Given the description of an element on the screen output the (x, y) to click on. 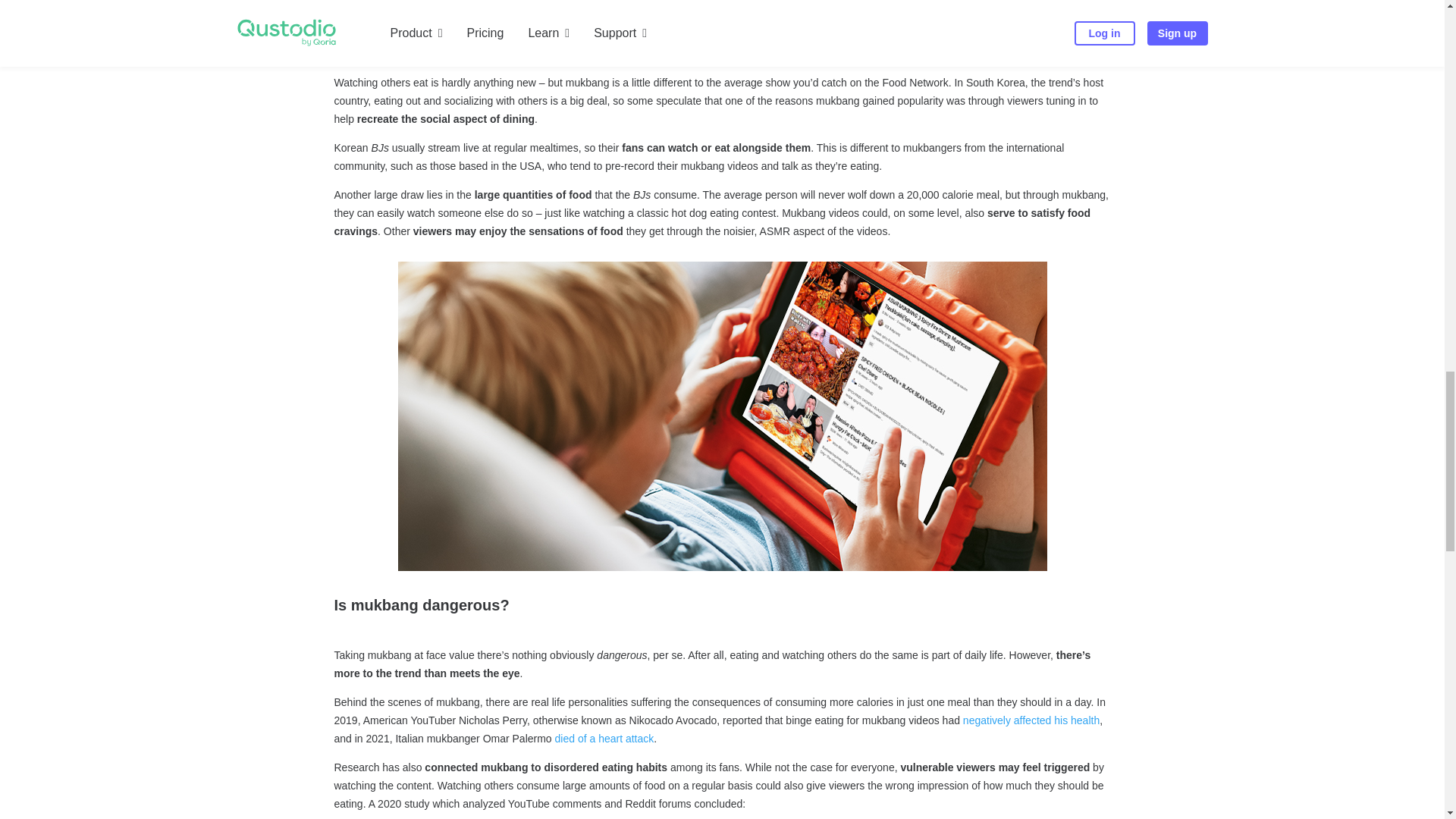
negatively affected his health (1030, 720)
died of a heart attack (603, 738)
